Given the description of an element on the screen output the (x, y) to click on. 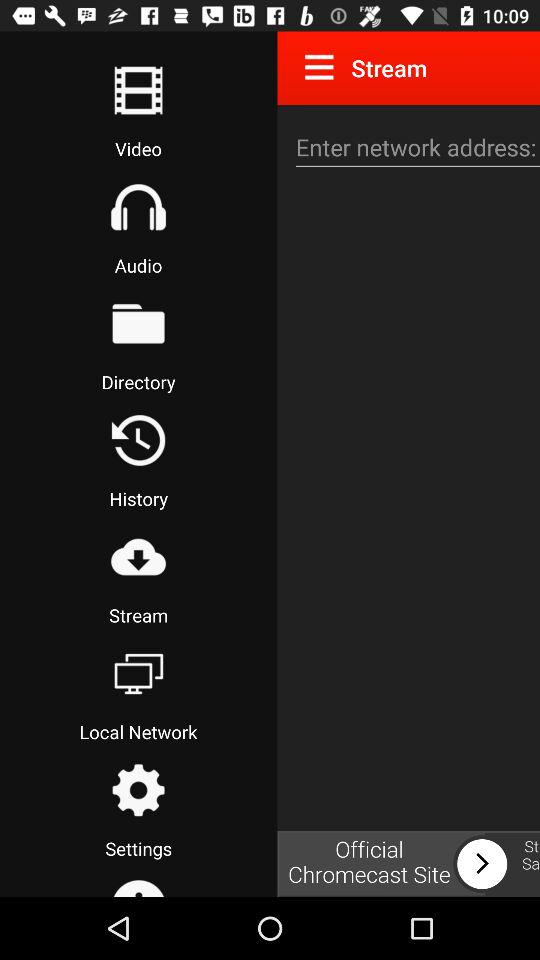
enter network address (415, 147)
